Given the description of an element on the screen output the (x, y) to click on. 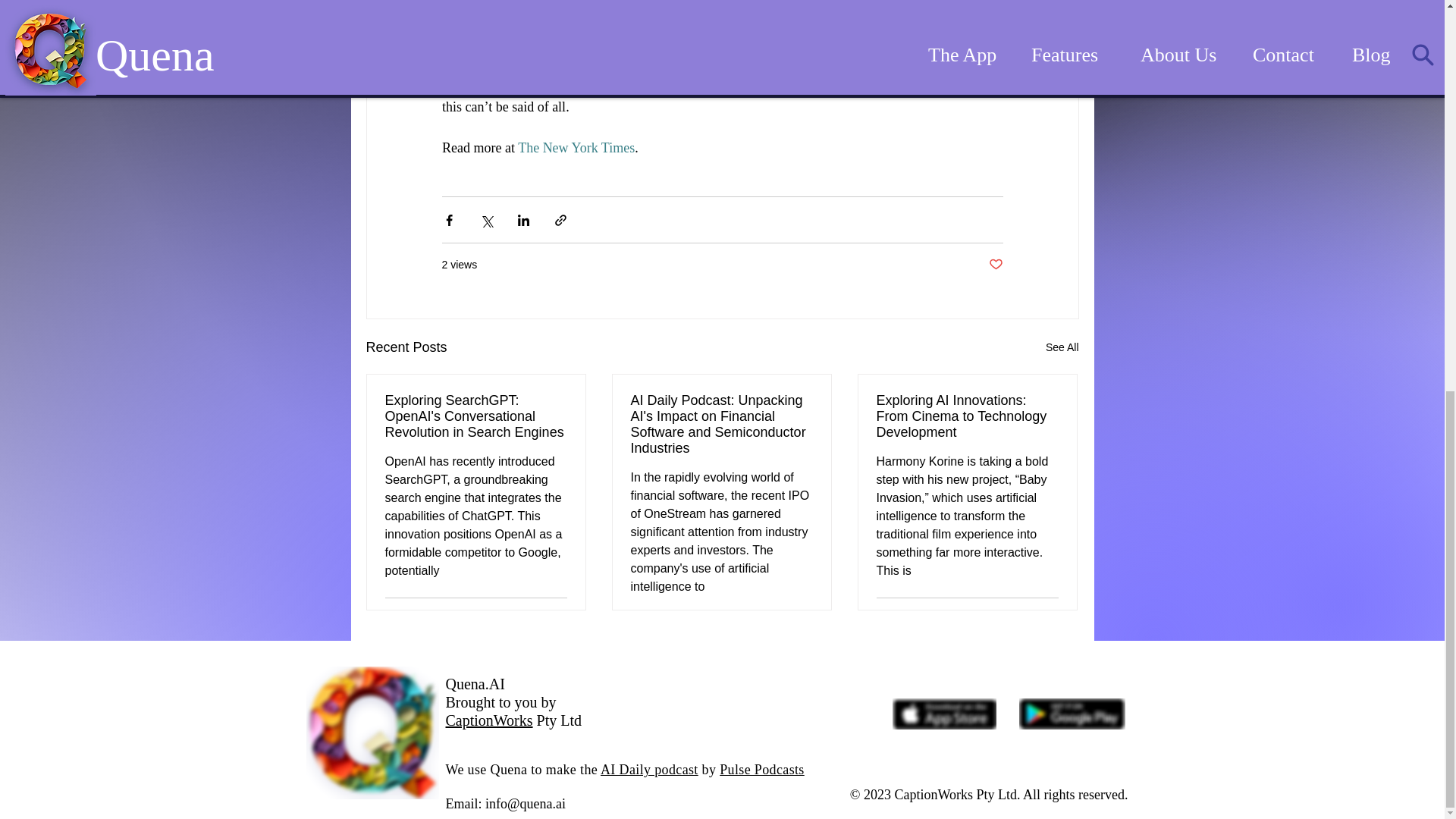
CaptionWorks (488, 719)
Post not marked as liked (995, 264)
quena 1025.png (372, 732)
Post not marked as liked (558, 616)
The New York Times (576, 147)
See All (1061, 347)
Quena.AI (475, 683)
Post not marked as liked (1050, 616)
Pulse Podcasts (762, 769)
AI Daily podcast (648, 769)
